Given the description of an element on the screen output the (x, y) to click on. 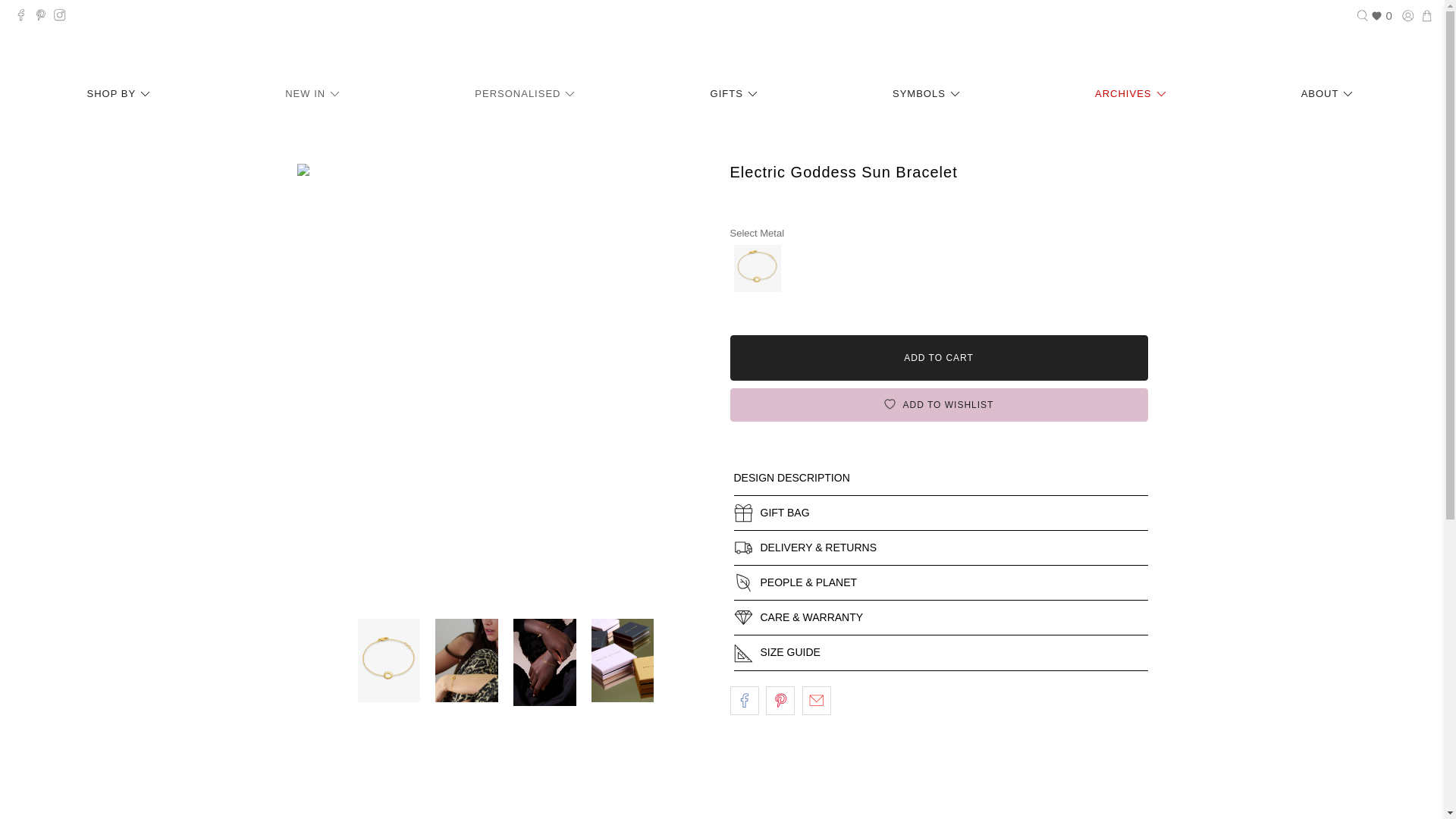
Rachel Jackson on Facebook (24, 16)
Rachel Jackson (721, 46)
GIFTS (736, 93)
Share this on Pinterest (779, 700)
ABOUT (1329, 93)
0 (1381, 16)
Email this to a friend (816, 700)
NEW IN (314, 93)
Electric Goddess Sun Bracelet (756, 267)
Rachel Jackson on Instagram (63, 16)
ARCHIVES (1132, 93)
SYMBOLS (928, 93)
SHOP BY (120, 93)
Rachel Jackson on Pinterest (44, 16)
